Given the description of an element on the screen output the (x, y) to click on. 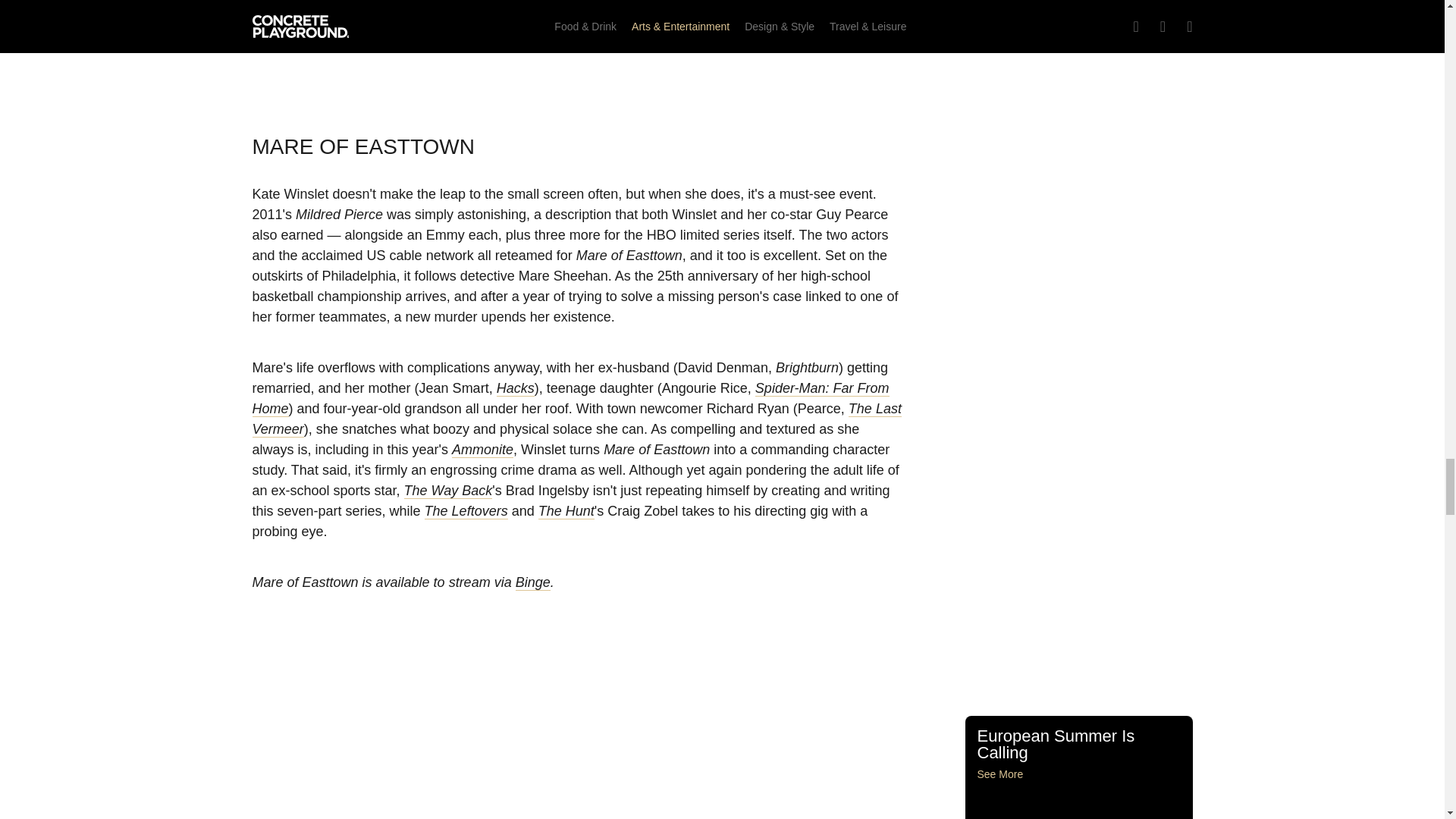
YouTube video player (577, 47)
YouTube video player (577, 736)
